Given the description of an element on the screen output the (x, y) to click on. 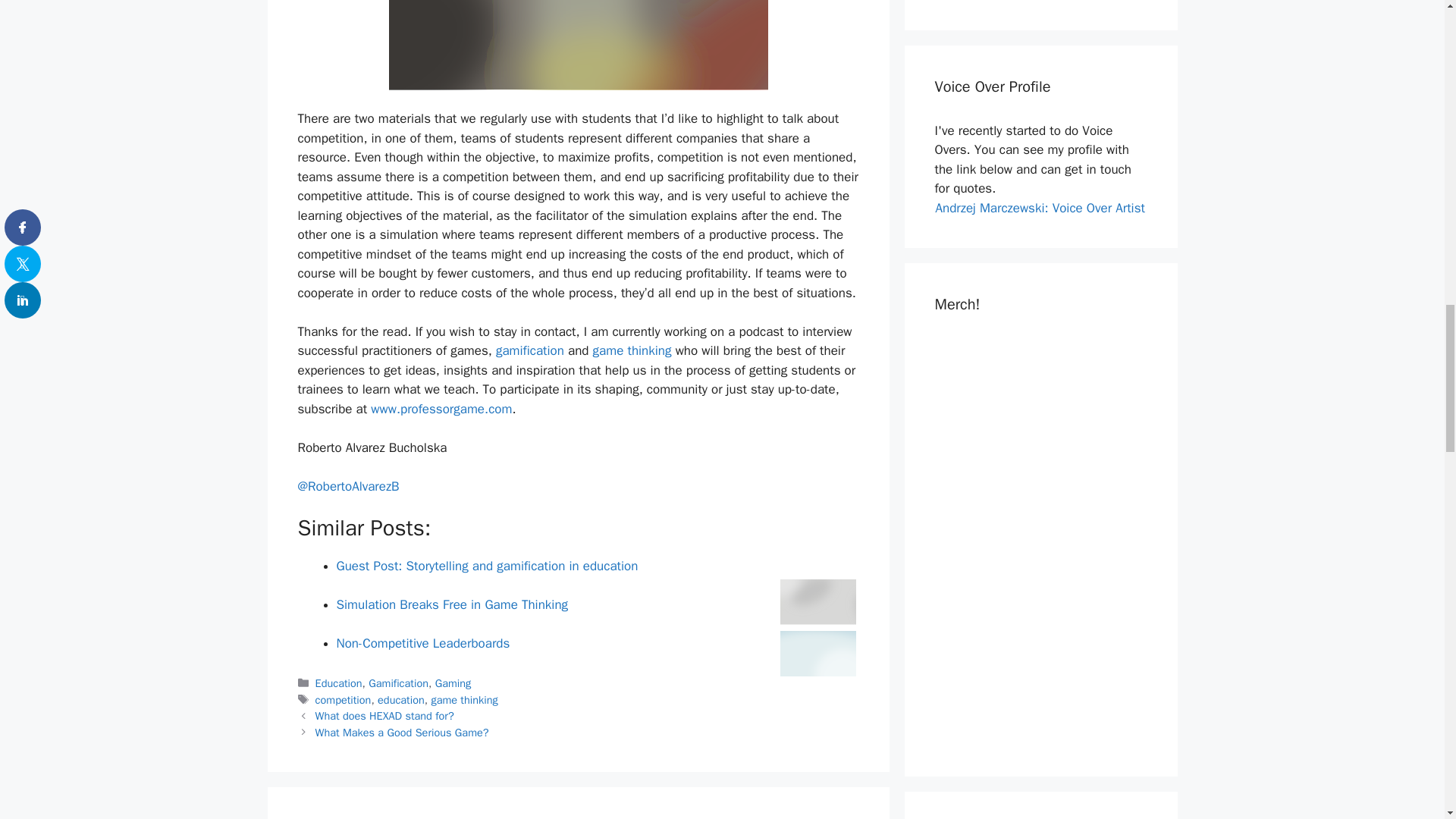
Simulation Breaks Free in Game Thinking (452, 604)
Guest Post Game Thinking in Business Education photo (817, 601)
Guest Post: Storytelling and gamification in education (487, 565)
gamification (530, 350)
Guest Post Game Thinking in Business Education photo (577, 45)
com (499, 408)
Gaming (453, 683)
game thinking (631, 350)
Non-Competitive Leaderboards (423, 643)
Education (338, 683)
